Given the description of an element on the screen output the (x, y) to click on. 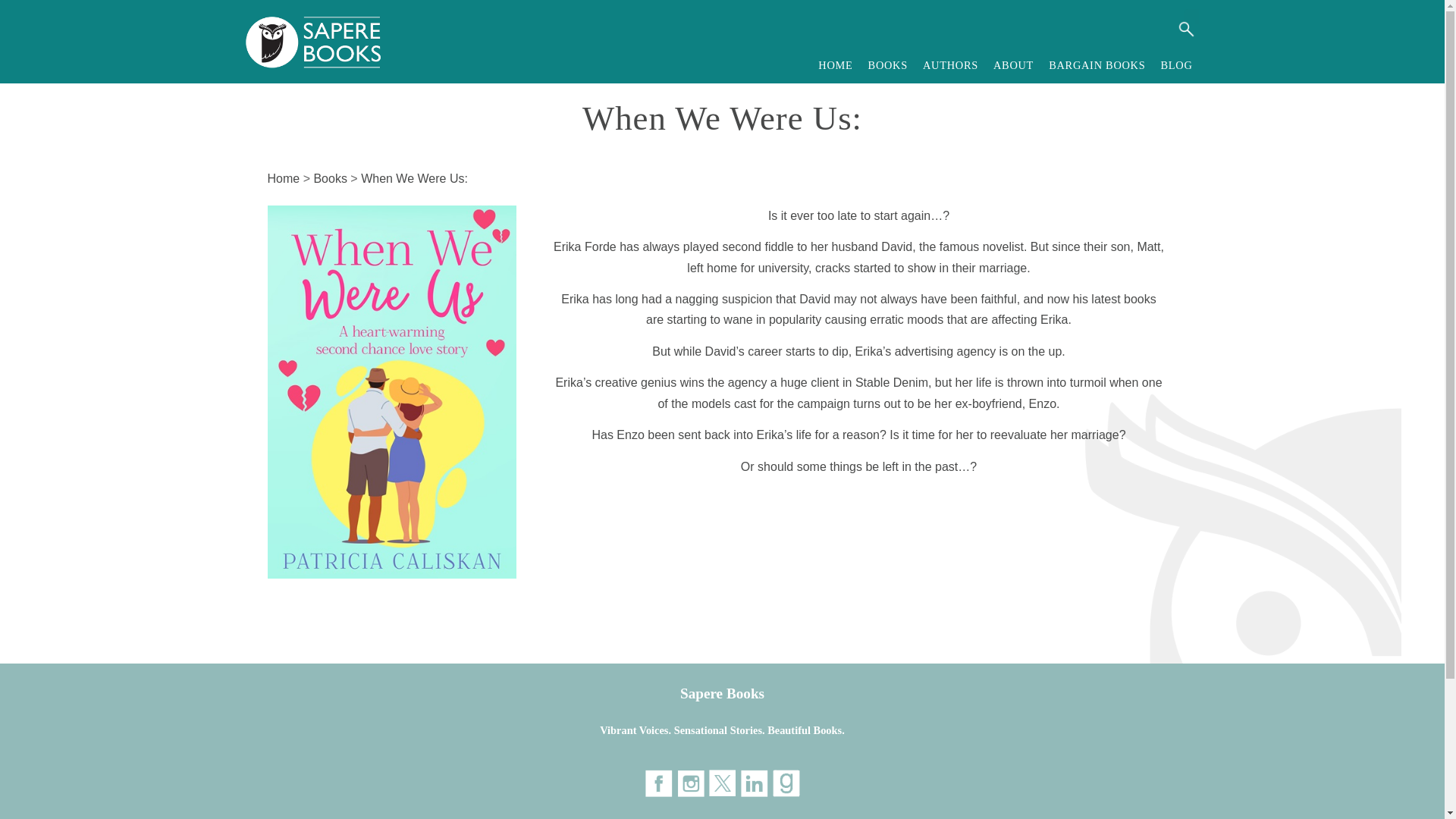
When We Were Us: (414, 178)
Books (329, 178)
Search (1184, 28)
Home (282, 178)
AUTHORS (950, 65)
BOOKS (887, 65)
BARGAIN BOOKS (1097, 65)
Search (1184, 28)
BLOG (1176, 65)
HOME (835, 65)
ABOUT (1013, 65)
